Given the description of an element on the screen output the (x, y) to click on. 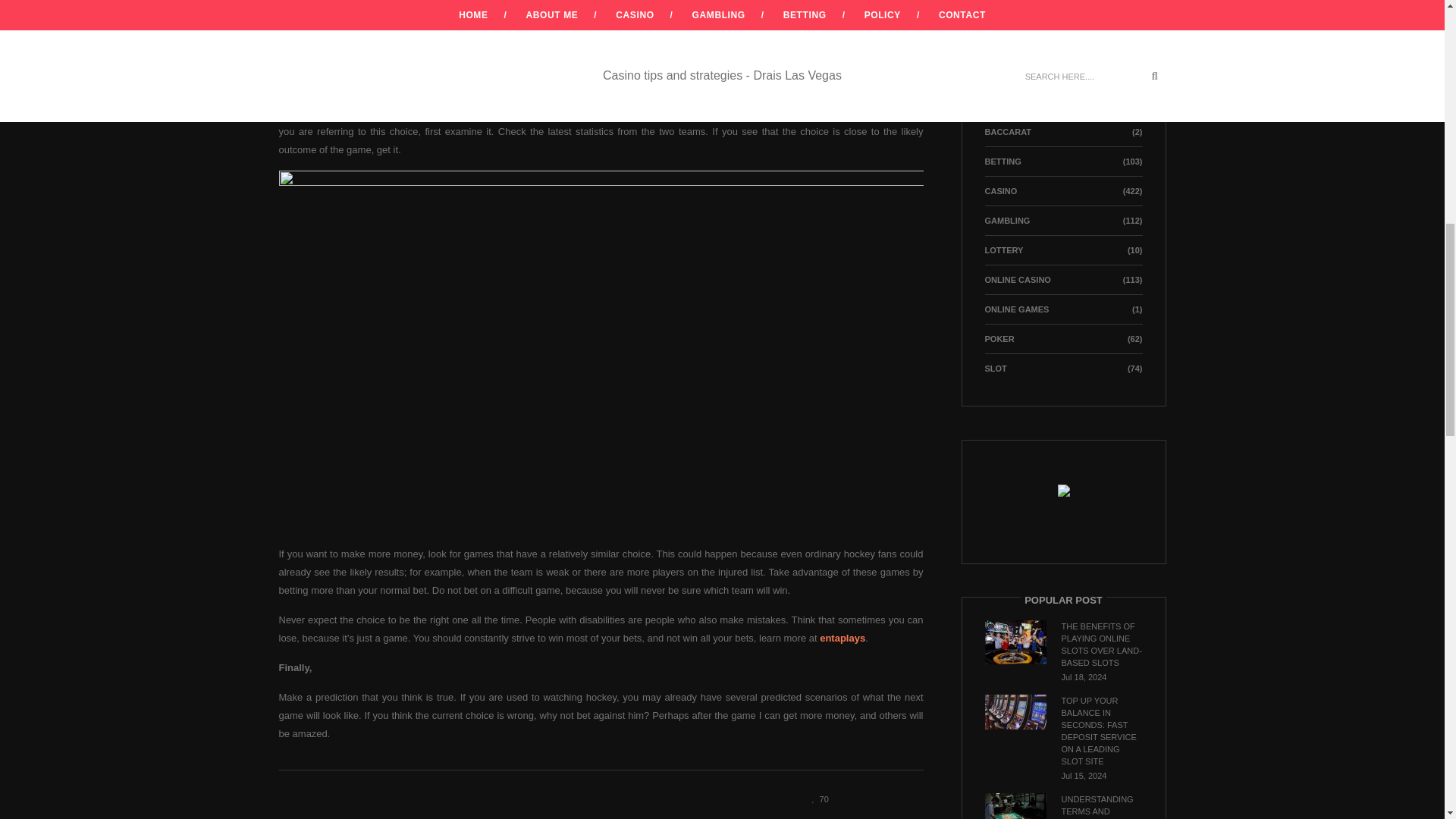
BETTING (1002, 161)
LOTTERY (1003, 249)
BACCARAT (1007, 131)
70 (815, 798)
ONLINE GAMES (1016, 308)
CASINO (1000, 190)
Like (815, 798)
GAMBLING (1006, 220)
entaplays (841, 637)
ONLINE CASINO (1016, 279)
